Given the description of an element on the screen output the (x, y) to click on. 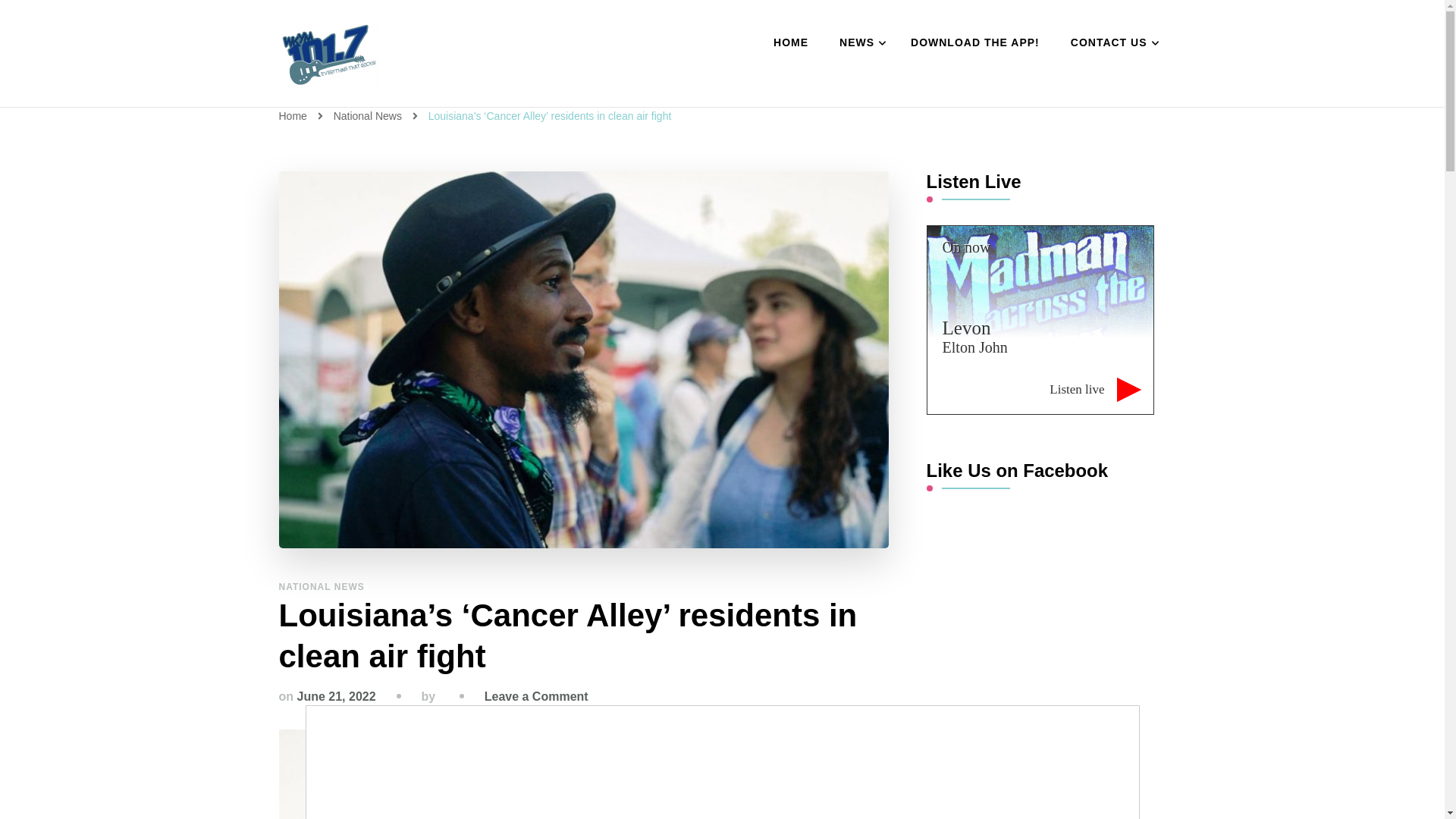
DOWNLOAD THE APP! (974, 43)
June 21, 2022 (336, 696)
Home (293, 115)
National News (368, 115)
NATIONAL NEWS (322, 586)
WKYM 101.7 (380, 104)
CONTACT US (1111, 43)
